Given the description of an element on the screen output the (x, y) to click on. 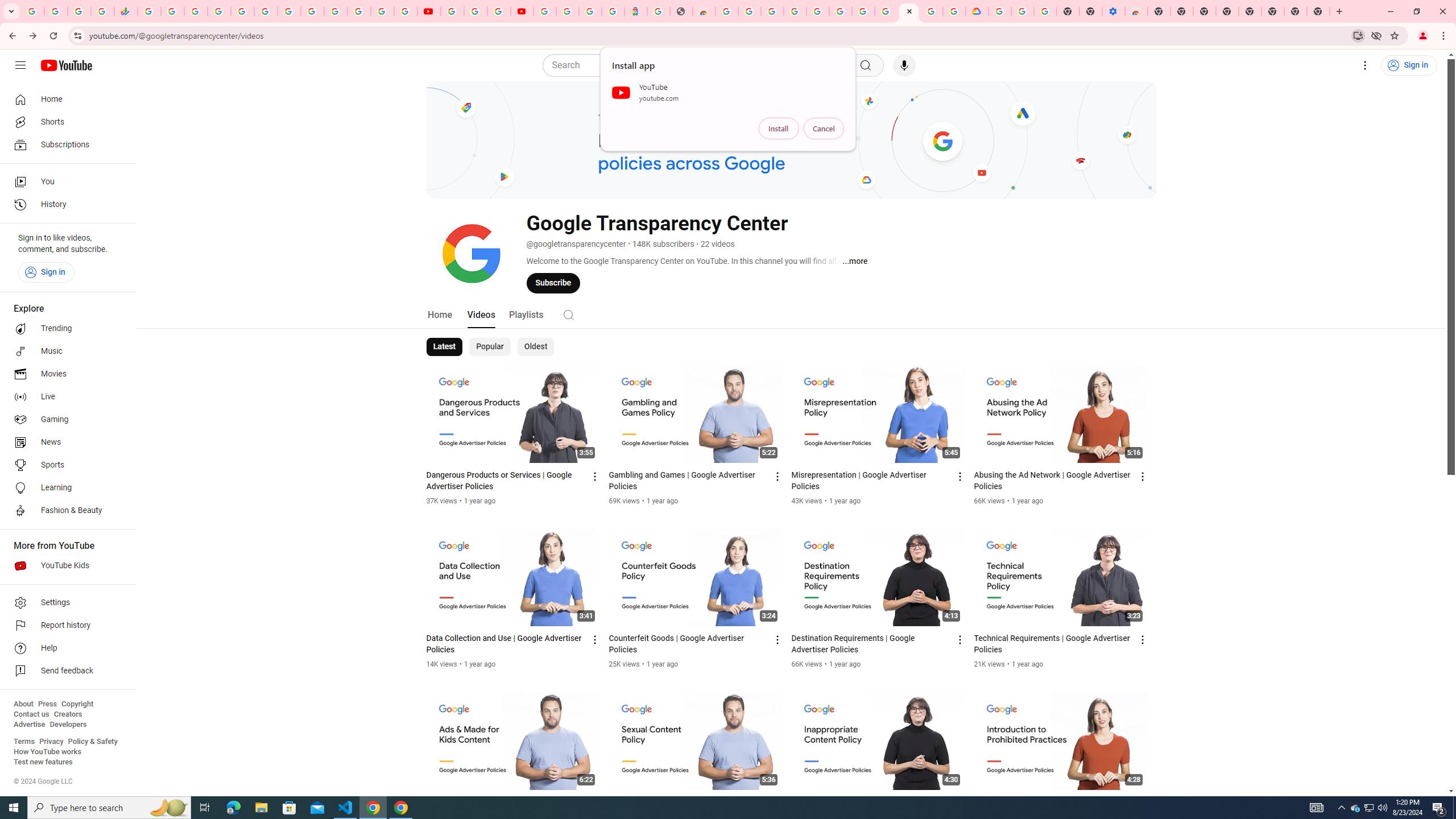
Popular (489, 346)
Turn cookies on or off - Computer - Google Account Help (1045, 11)
News (64, 441)
Settings - Accessibility (1113, 11)
Create your Google Account (498, 11)
Sign in - Google Accounts (999, 11)
Install (778, 128)
